Given the description of an element on the screen output the (x, y) to click on. 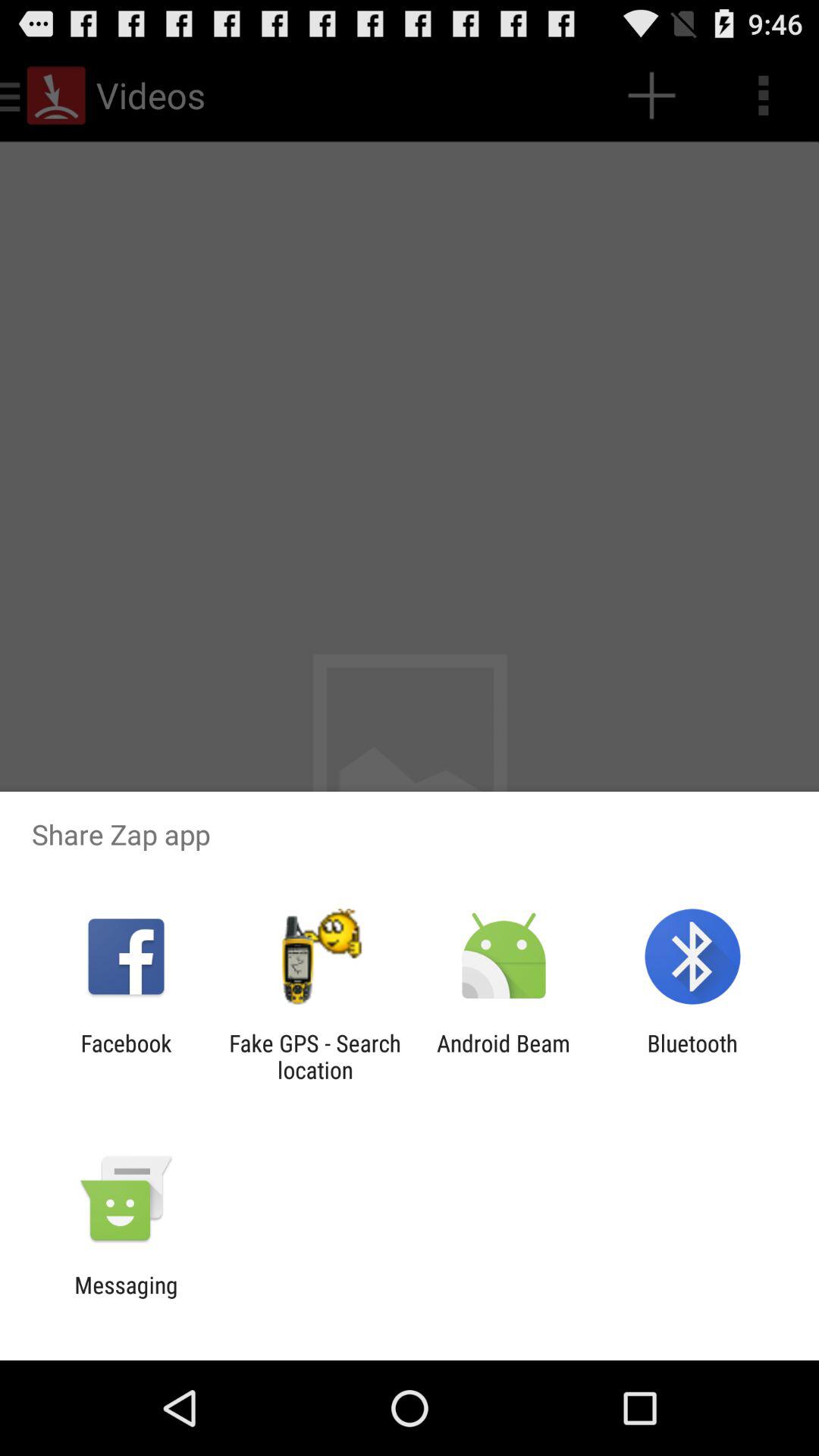
open the app next to bluetooth app (503, 1056)
